Given the description of an element on the screen output the (x, y) to click on. 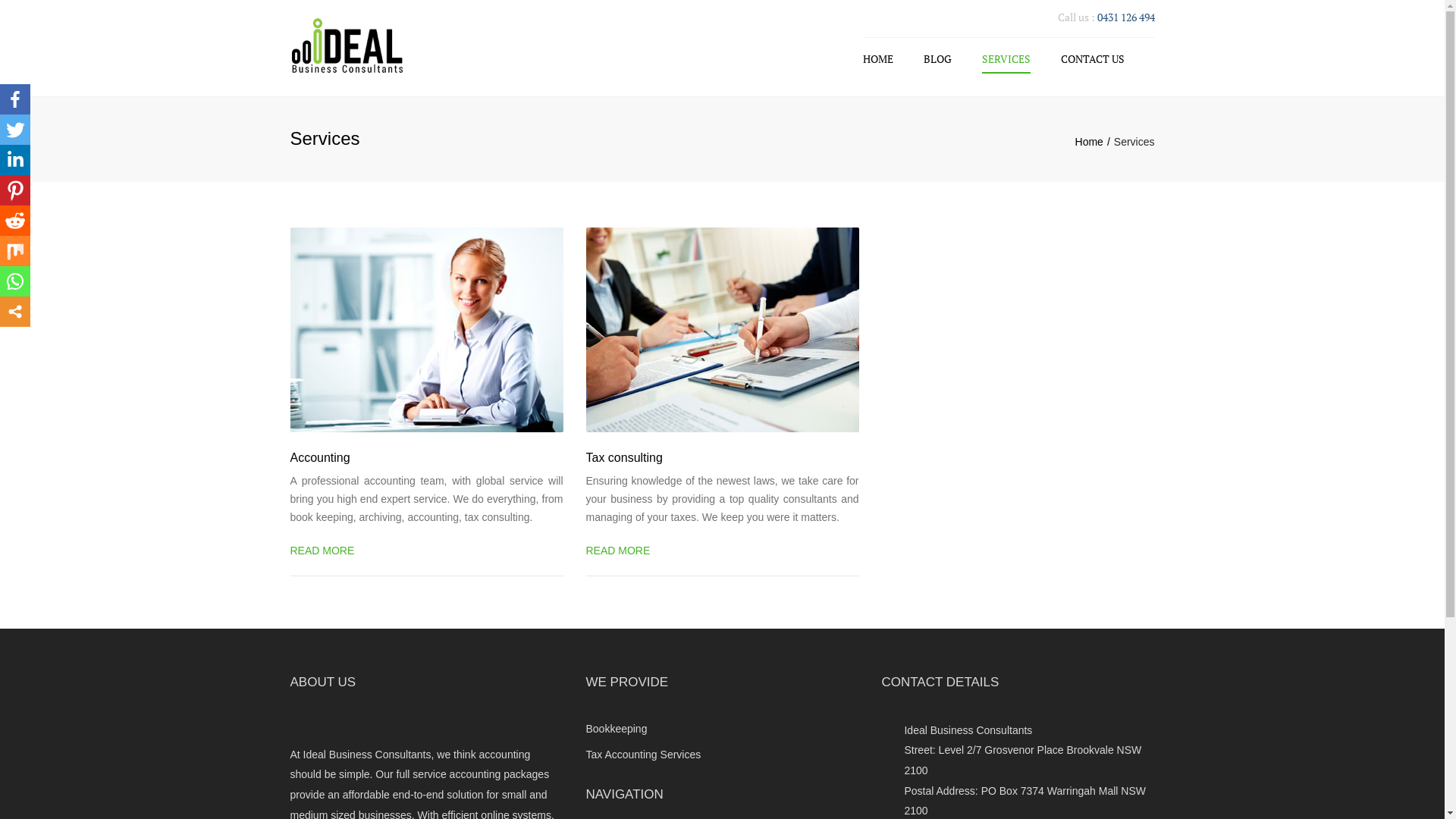
READ MORE Element type: text (623, 550)
Tax Accounting Services Element type: text (642, 754)
Mix Element type: hover (15, 250)
Whatsapp Element type: hover (15, 281)
Bookkeeping Element type: text (615, 728)
Pinterest Element type: hover (15, 190)
Home Element type: text (1094, 141)
Facebook Element type: hover (15, 99)
Twitter Element type: hover (15, 129)
SERVICES Element type: text (1005, 58)
BLOG Element type: text (937, 58)
Reddit Element type: hover (15, 220)
READ MORE Element type: text (328, 550)
Linkedin Element type: hover (15, 159)
HOME Element type: text (881, 58)
CONTACT US Element type: text (1091, 58)
More Element type: hover (15, 311)
